Given the description of an element on the screen output the (x, y) to click on. 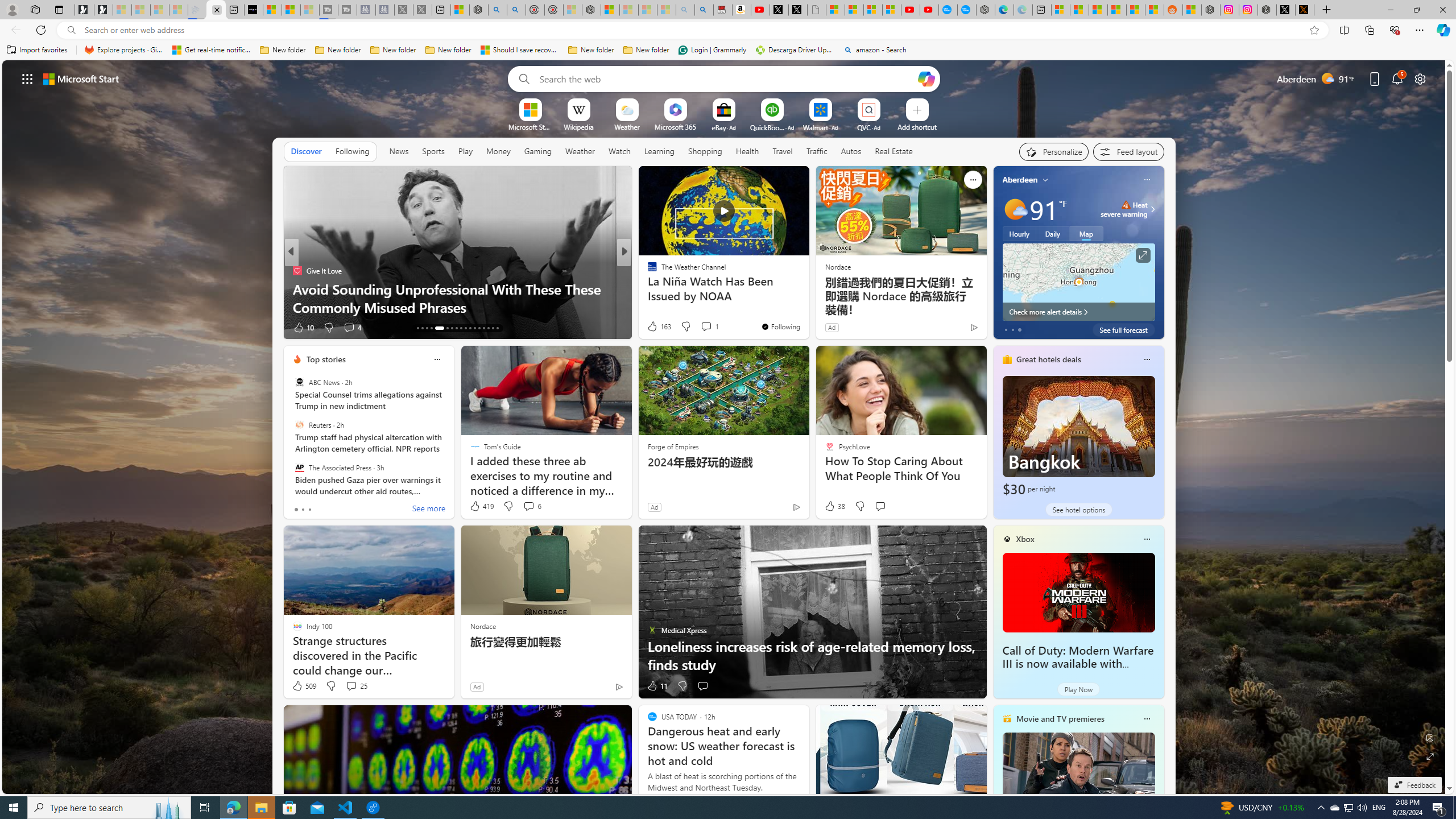
Play (465, 151)
Reuters (299, 424)
Planning to Organize (647, 270)
38 Like (834, 505)
Gloom - YouTube (910, 9)
Wikipedia (578, 126)
View comments 6 Comment (528, 505)
